Given the description of an element on the screen output the (x, y) to click on. 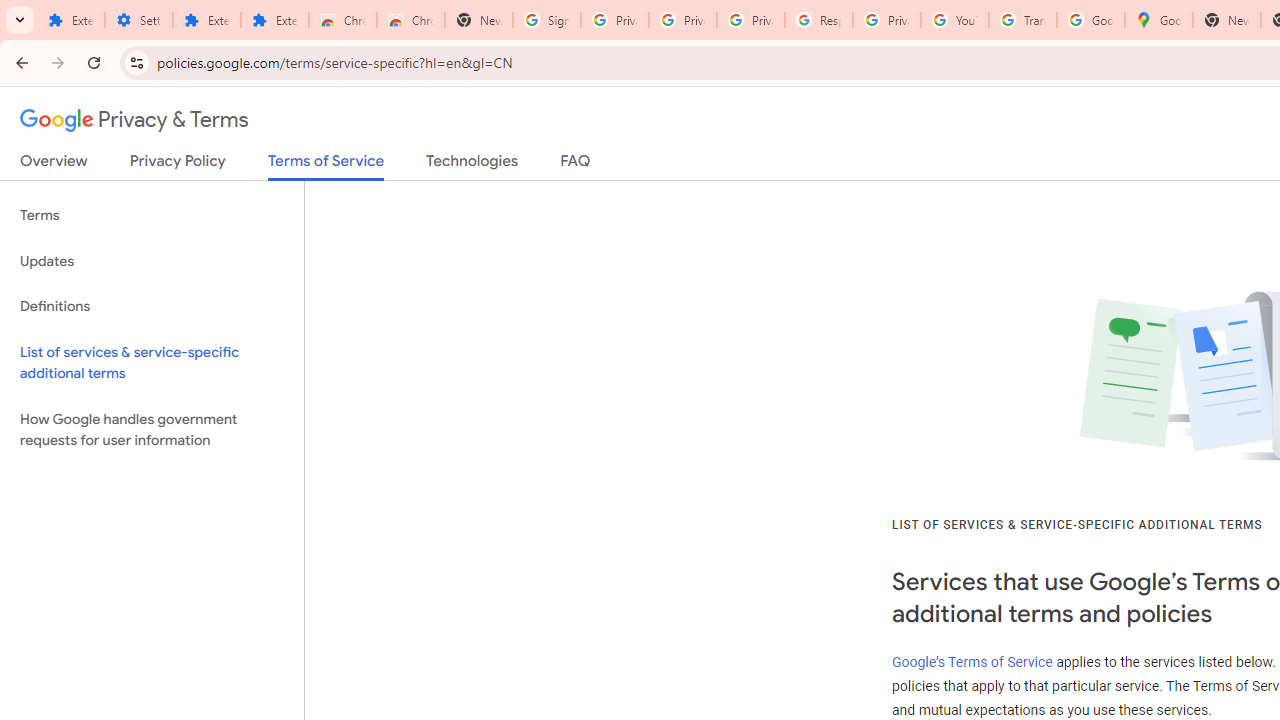
How Google handles government requests for user information (152, 429)
Chrome Web Store - Themes (411, 20)
Extensions (70, 20)
